Given the description of an element on the screen output the (x, y) to click on. 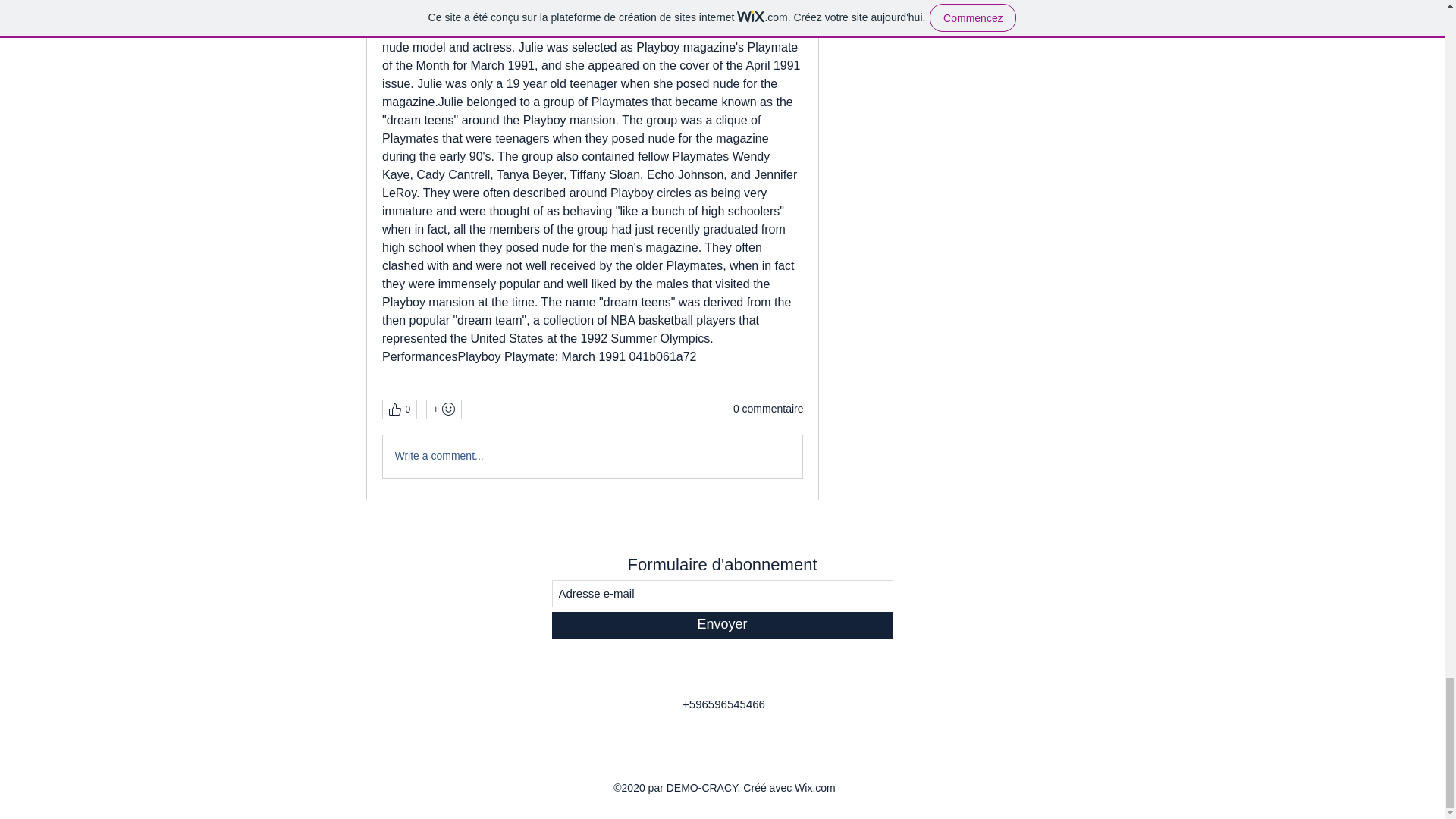
Write a comment... (591, 455)
0 commentaire (768, 409)
